Given the description of an element on the screen output the (x, y) to click on. 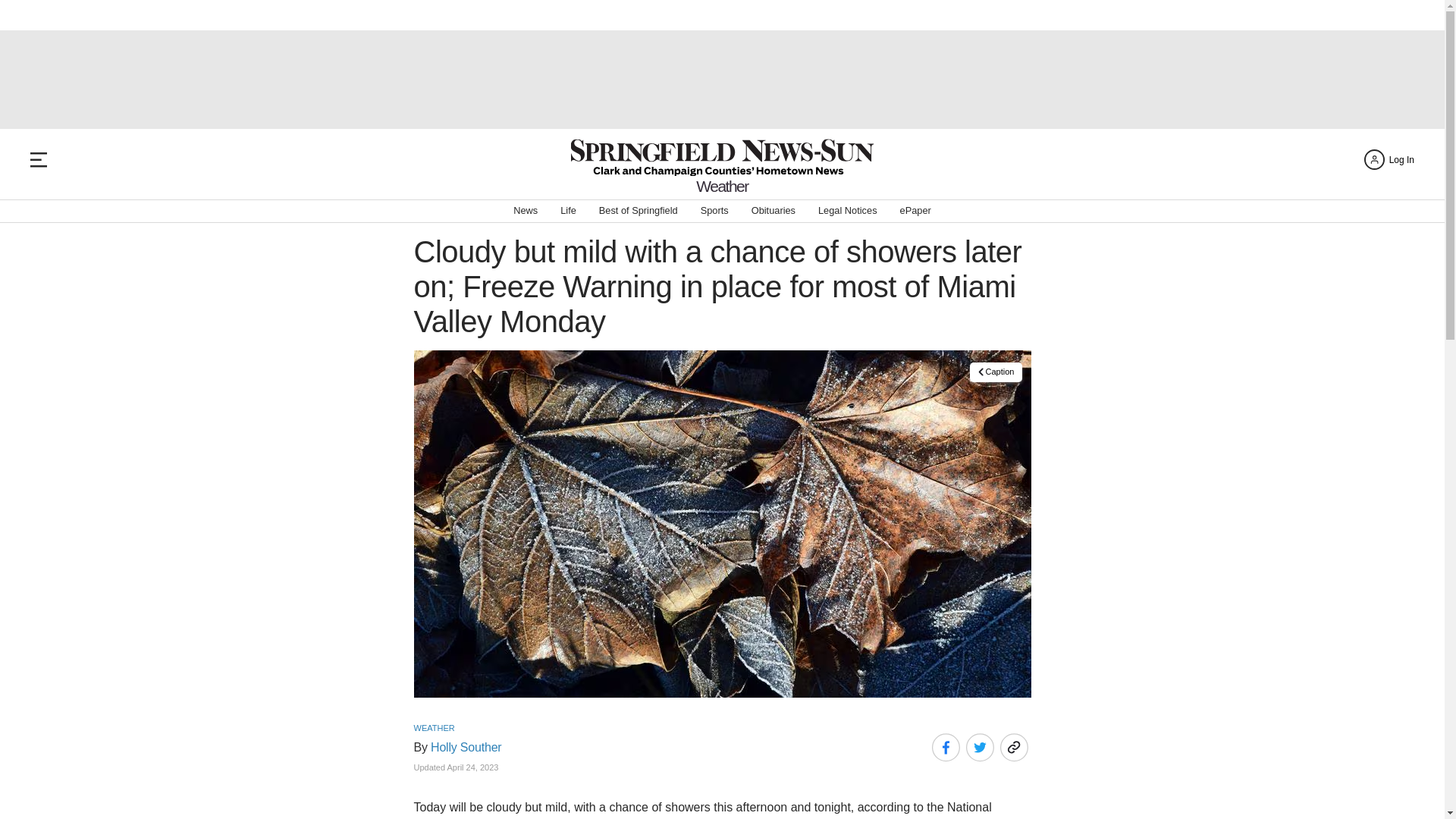
Legal Notices (847, 210)
News (525, 210)
Obituaries (772, 210)
Weather (721, 186)
Sports (714, 210)
Best of Springfield (638, 210)
ePaper (915, 210)
